Given the description of an element on the screen output the (x, y) to click on. 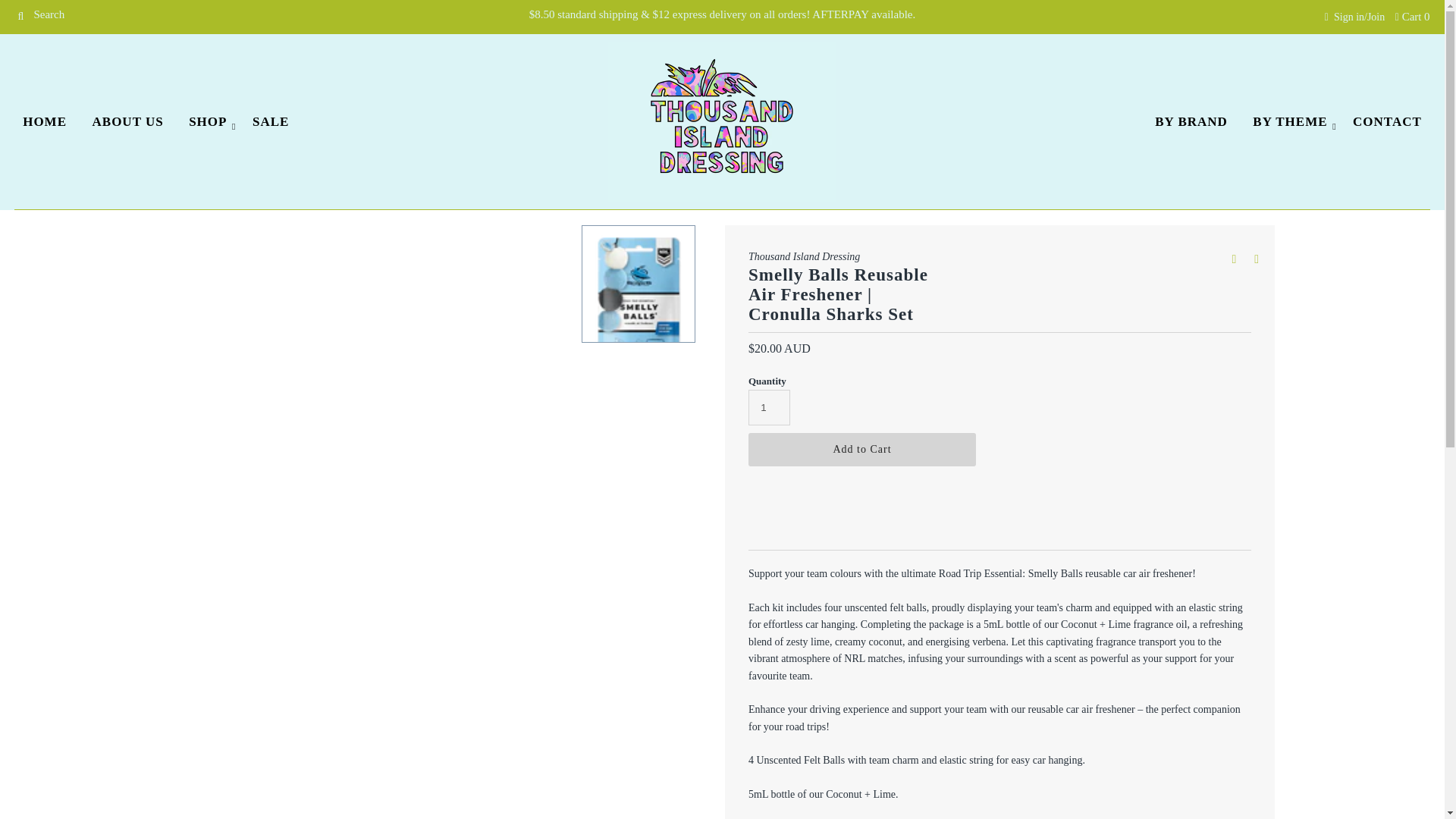
1 (769, 407)
SHOP (207, 121)
HOME (44, 121)
Add to Cart (861, 449)
ABOUT US (127, 121)
 Cart 0 (1411, 17)
